Given the description of an element on the screen output the (x, y) to click on. 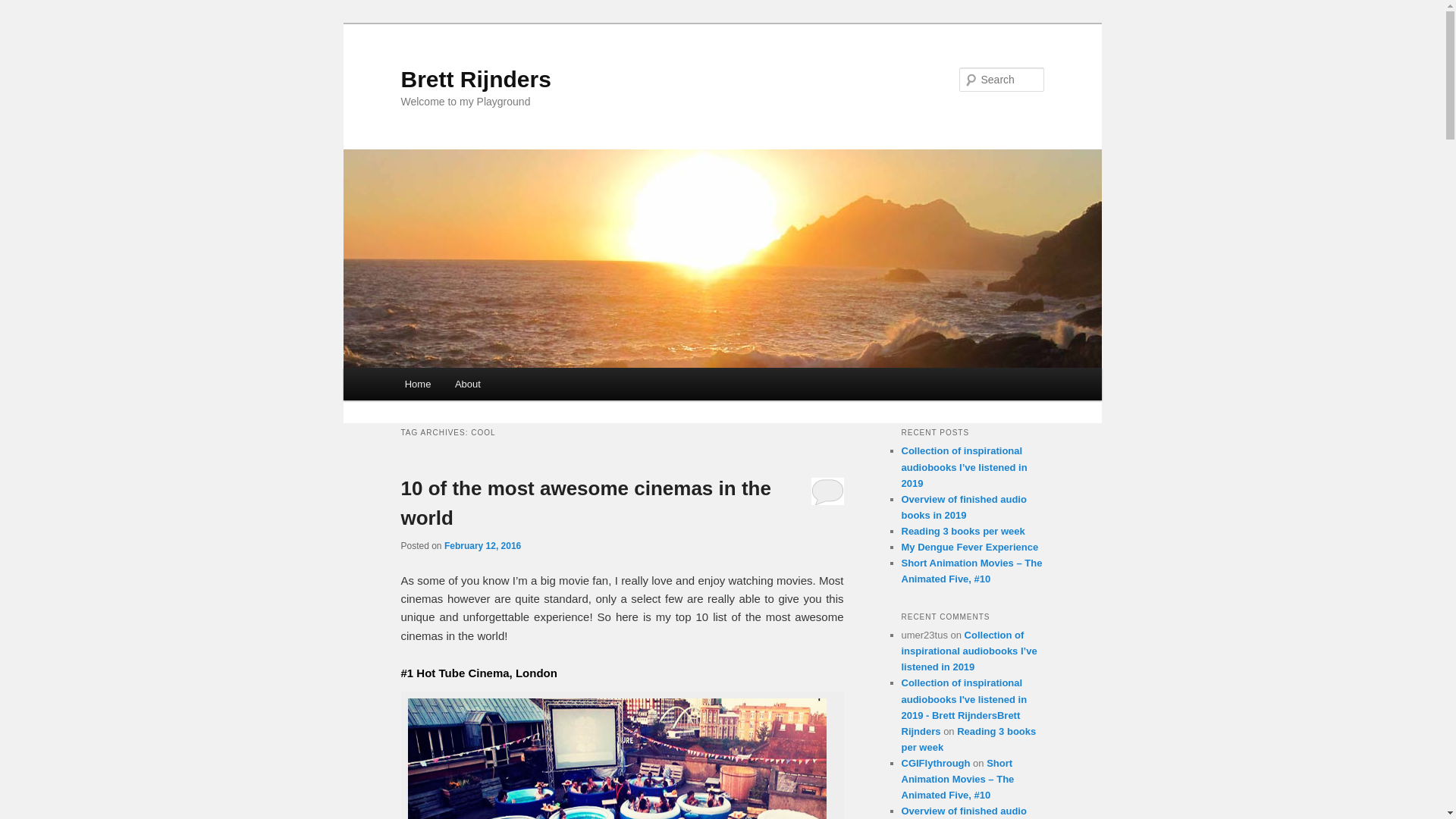
CGIFlythrough (935, 763)
My Dengue Fever Experience (969, 546)
10 of the most awesome cinemas in the world (585, 502)
Hot Tube Cinema, London (617, 758)
Reading 3 books per week (968, 738)
6:10 pm (482, 545)
February 12, 2016 (482, 545)
About (467, 383)
Reading 3 books per week (963, 531)
